Given the description of an element on the screen output the (x, y) to click on. 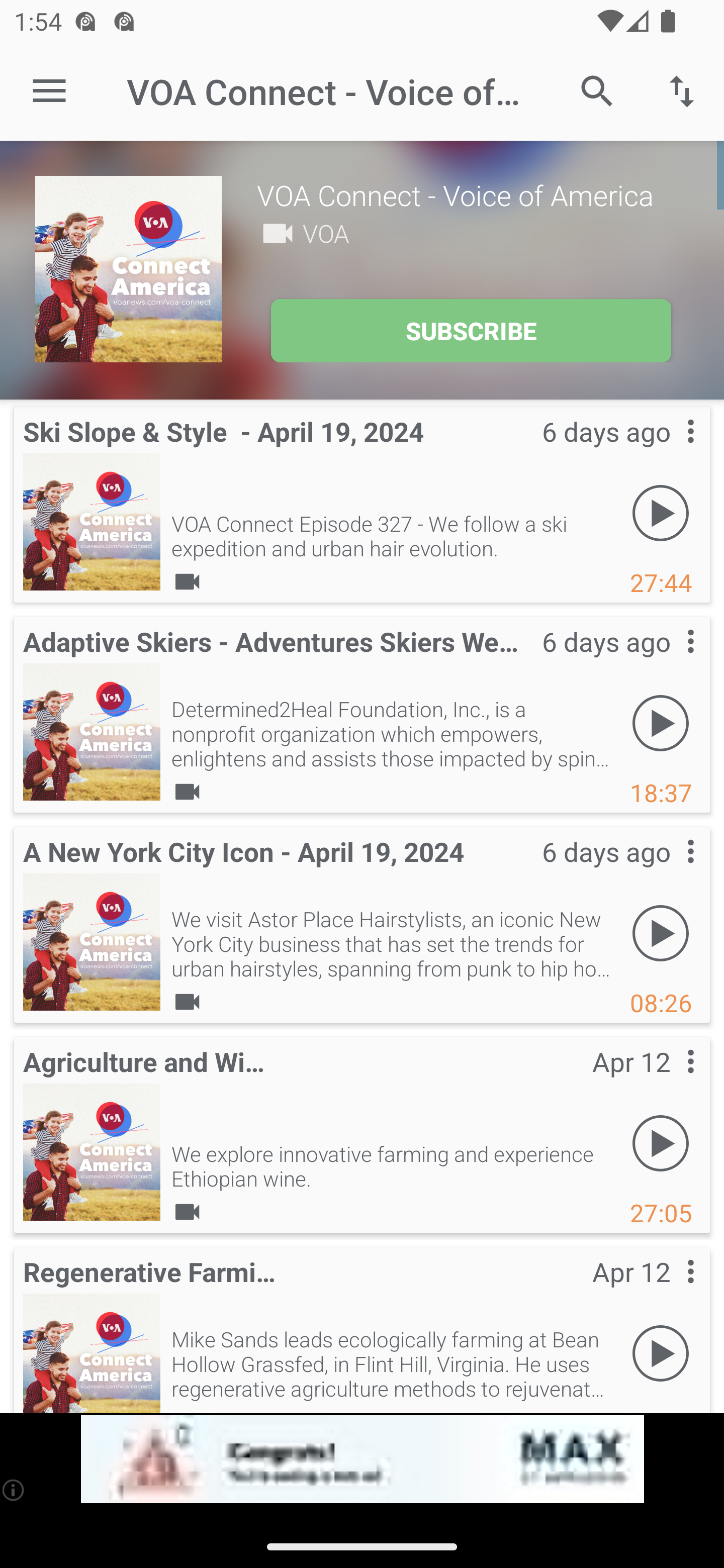
Open navigation sidebar (49, 91)
Search (597, 90)
Sort (681, 90)
SUBSCRIBE (470, 330)
Contextual menu (668, 451)
Play (660, 513)
Contextual menu (668, 661)
Play (660, 723)
Contextual menu (668, 870)
Play (660, 933)
Contextual menu (668, 1080)
Play (660, 1143)
Contextual menu (668, 1290)
Play (660, 1353)
app-monetization (362, 1459)
(i) (14, 1489)
